Given the description of an element on the screen output the (x, y) to click on. 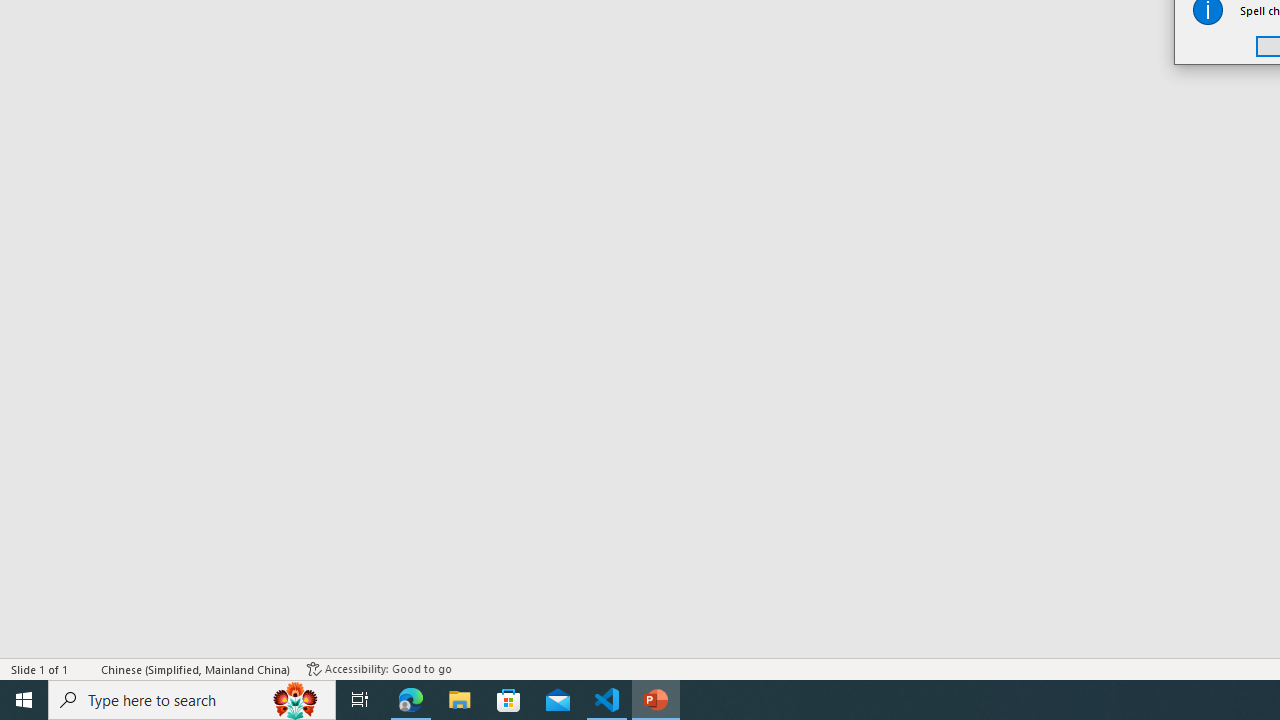
Spell Check  (86, 668)
